Given the description of an element on the screen output the (x, y) to click on. 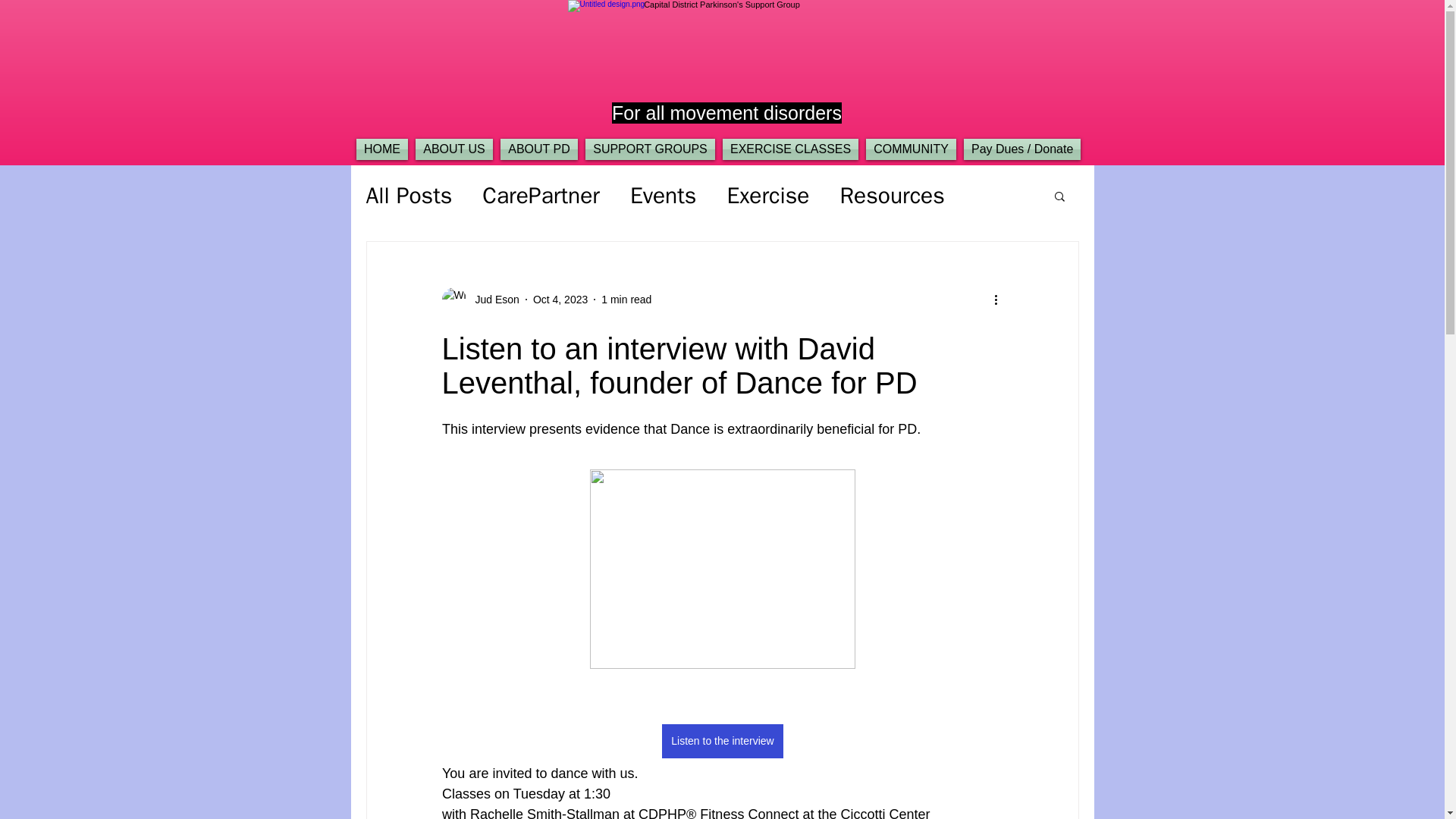
Exercise (767, 195)
CarePartner (540, 195)
All Posts (408, 195)
HOME (382, 148)
Oct 4, 2023 (560, 298)
Jud Eson (491, 299)
1 min read (625, 298)
Listen to the interview (722, 740)
EXERCISE CLASSES (790, 148)
Jud Eson (479, 299)
